Given the description of an element on the screen output the (x, y) to click on. 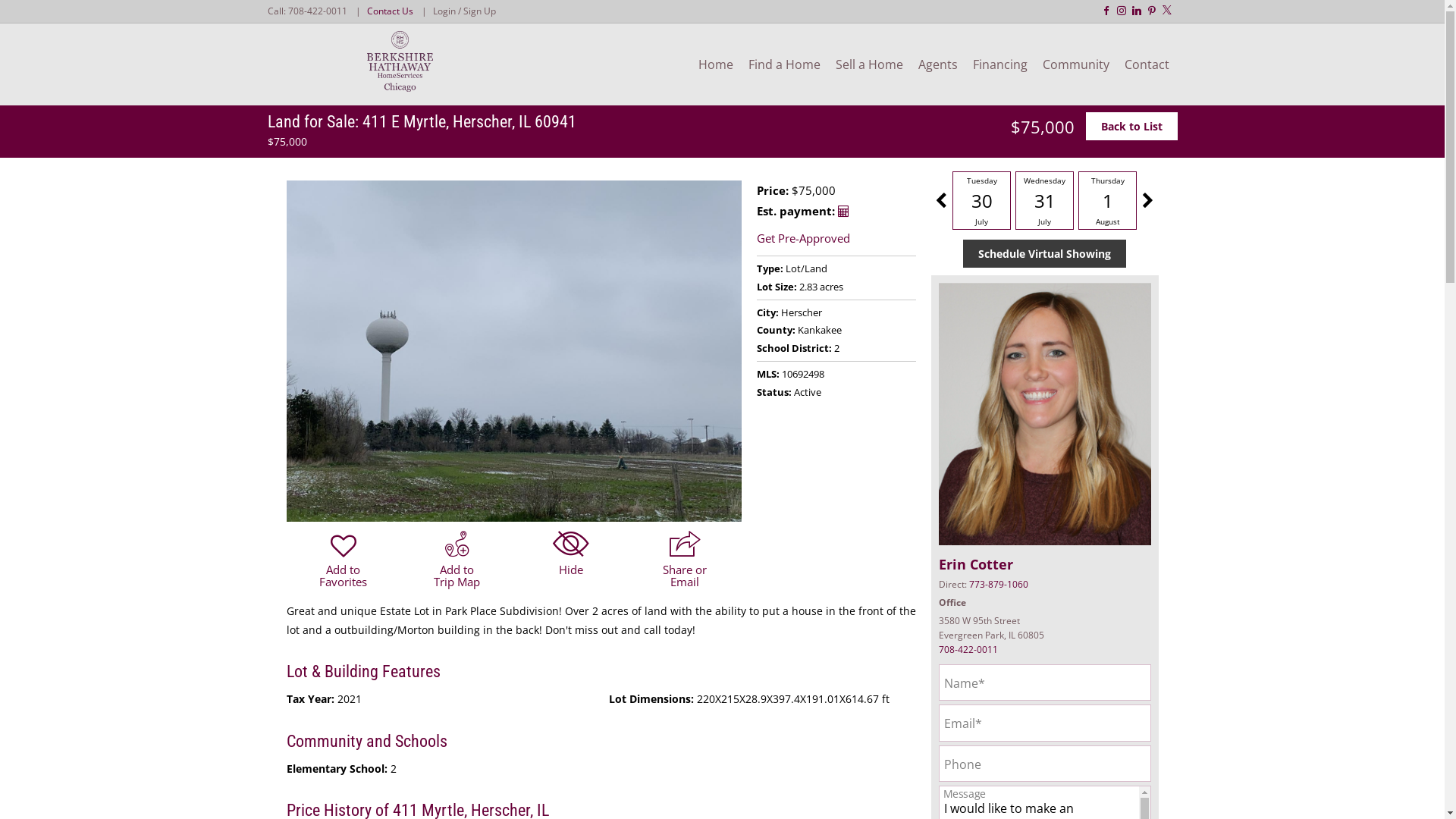
Community (1074, 64)
Visit us on X (1166, 9)
Visit us on Instagram (1120, 10)
708-422-0011 (317, 10)
Contact (1146, 64)
Find a Home (783, 64)
Agents (936, 64)
Financing (998, 64)
Visit us on Facebook (1106, 10)
Home (714, 64)
Visit us on Pinterest (1151, 10)
Contact Us (389, 10)
Sell a Home (869, 64)
Visit us on LinkedIn (1136, 10)
